Given the description of an element on the screen output the (x, y) to click on. 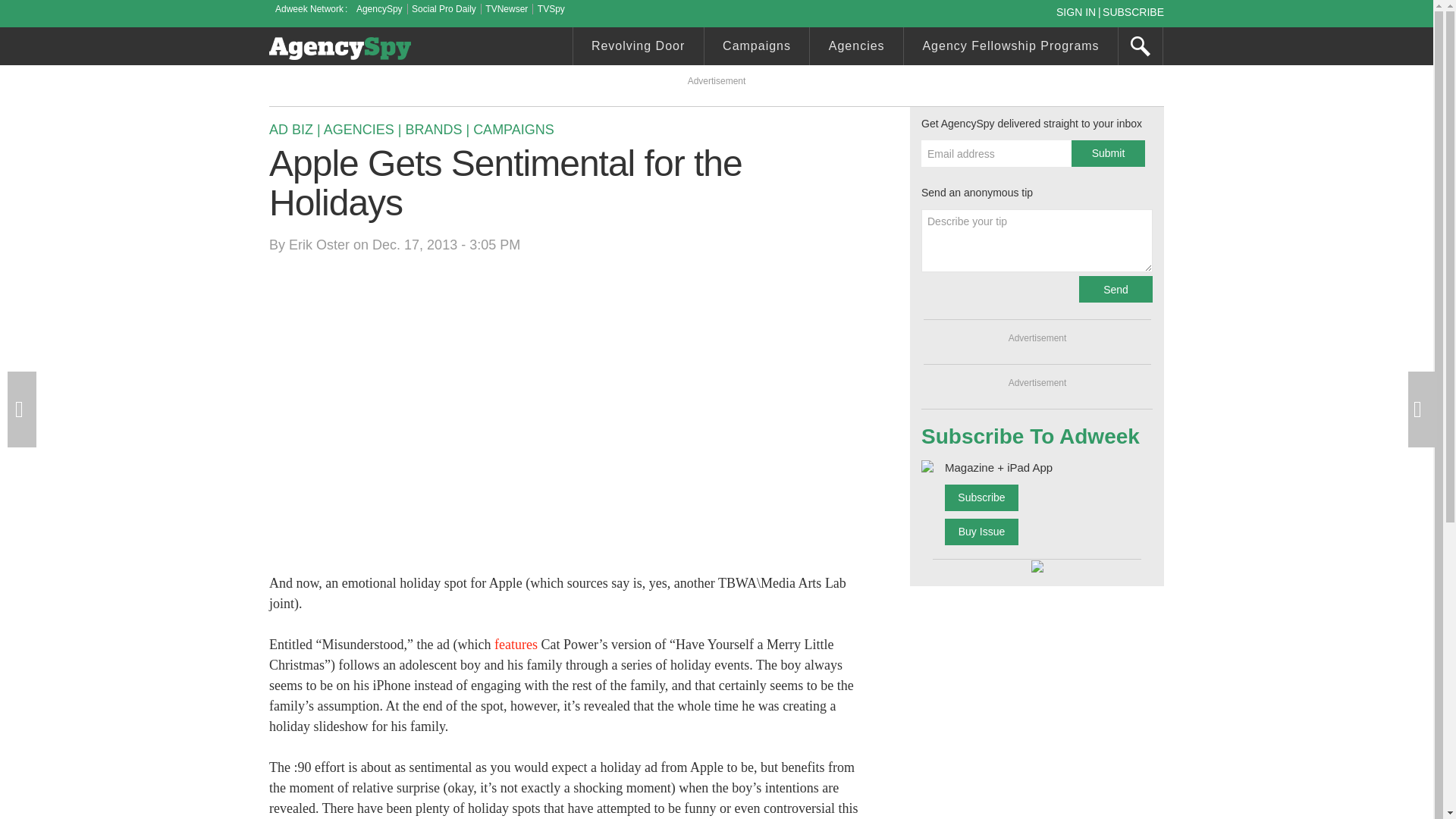
Revolving Door (638, 48)
AgencySpy (379, 9)
Covering the ad agency world (339, 47)
Social Pro Daily (444, 9)
Campaigns (756, 48)
Send (1115, 289)
SUBSCRIBE (1132, 11)
Submit (1107, 153)
SIGN IN (1078, 11)
TVNewser (505, 9)
